Given the description of an element on the screen output the (x, y) to click on. 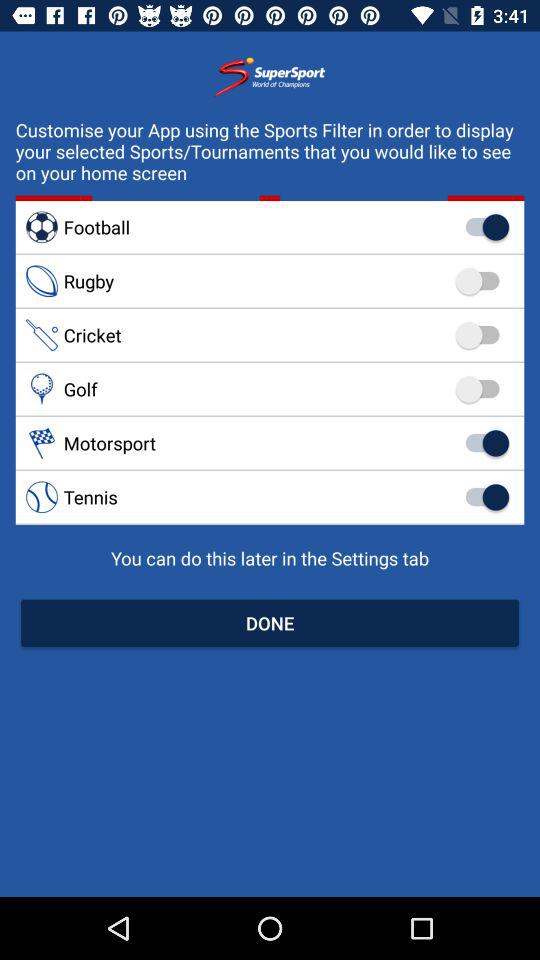
tap the golf (269, 389)
